Given the description of an element on the screen output the (x, y) to click on. 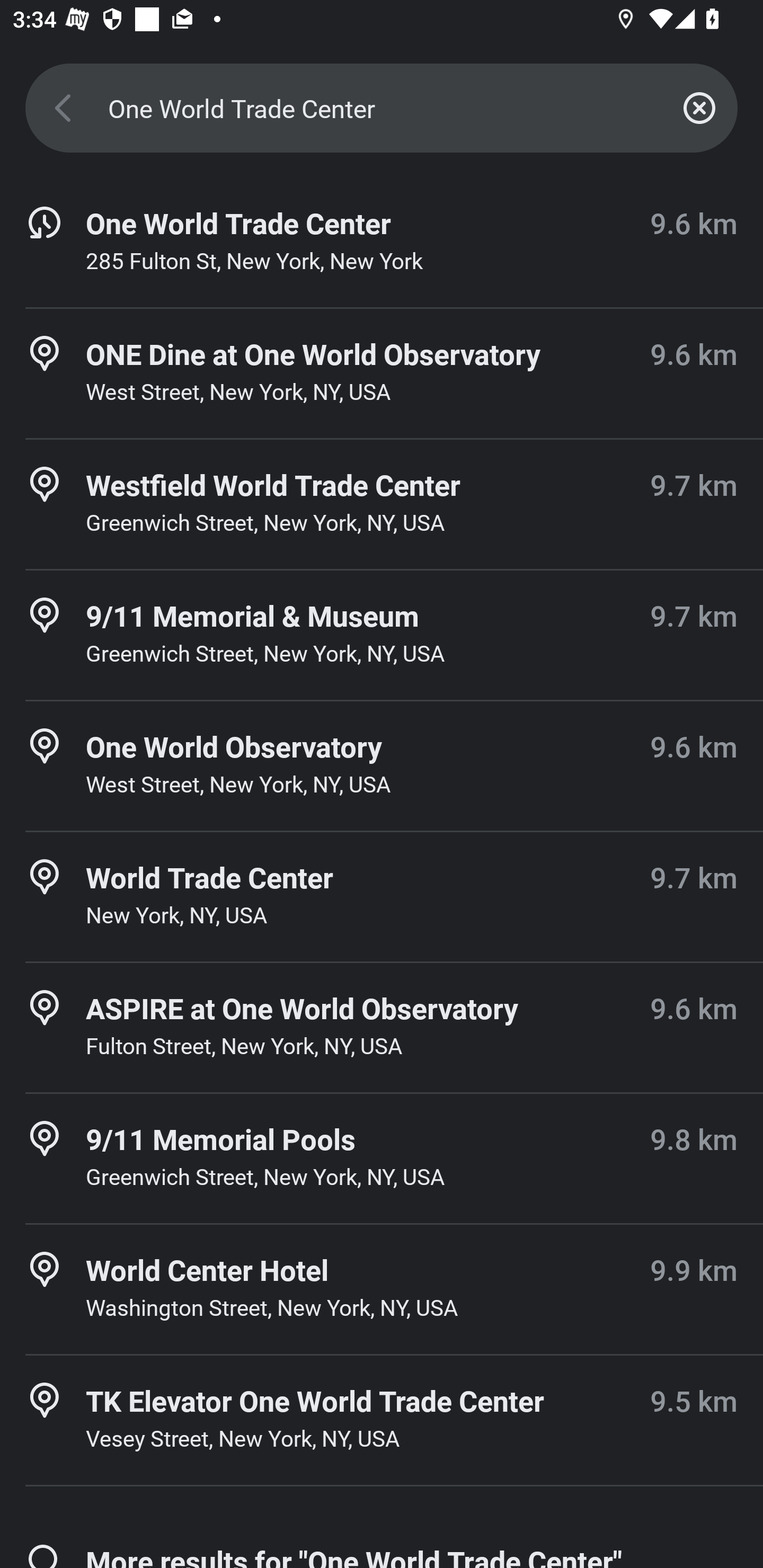
One World Trade Center SEARCH_SCREEN_SEARCH_FIELD (381, 108)
World Trade Center 9.7 km New York, NY, USA (381, 896)
